Given the description of an element on the screen output the (x, y) to click on. 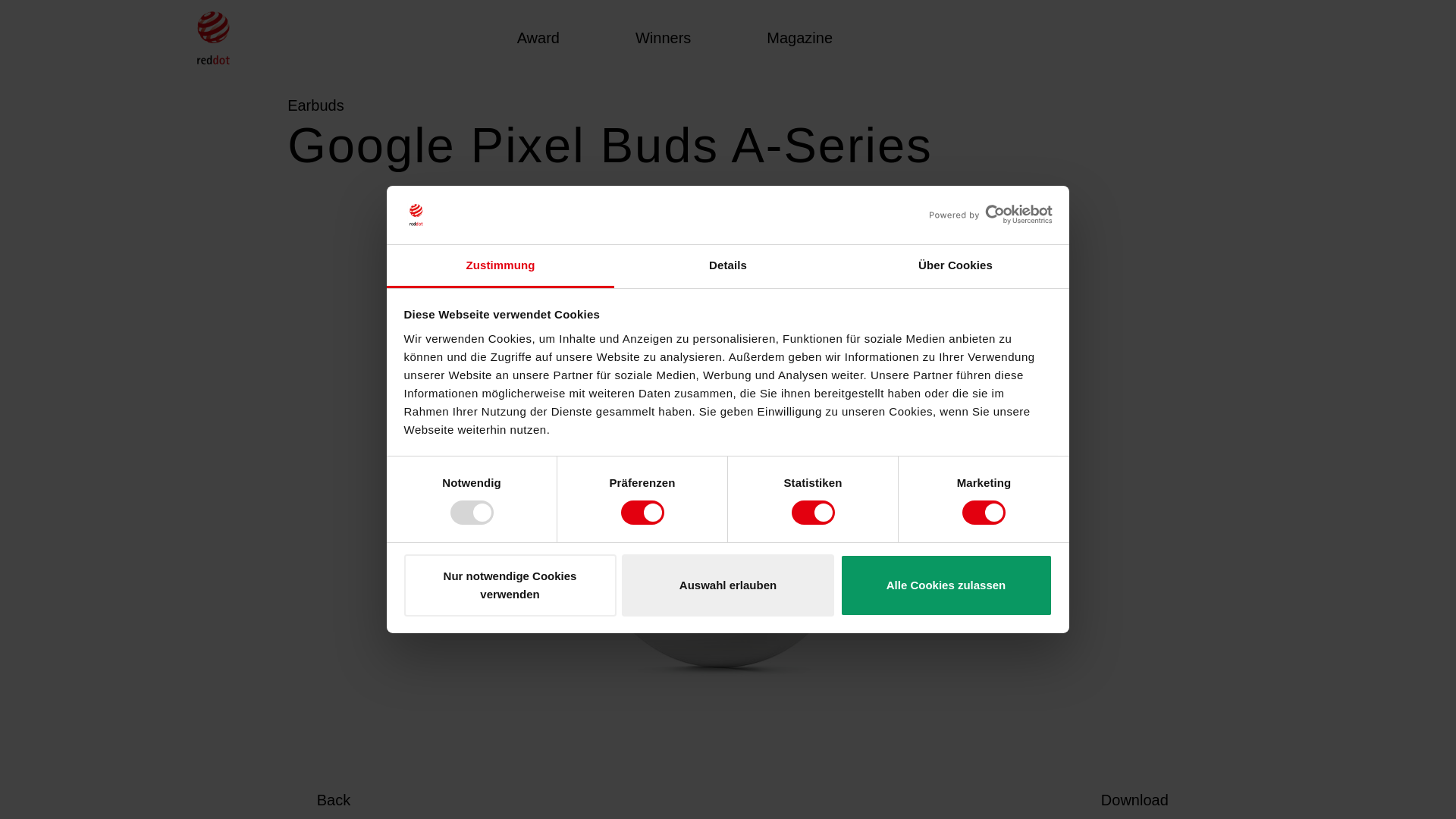
Nur notwendige Cookies verwenden (509, 585)
Zustimmung (500, 266)
Alle Cookies zulassen (946, 585)
Auswahl erlauben (727, 585)
Award (537, 37)
Winners (662, 37)
Details (727, 266)
Magazine (799, 37)
